Given the description of an element on the screen output the (x, y) to click on. 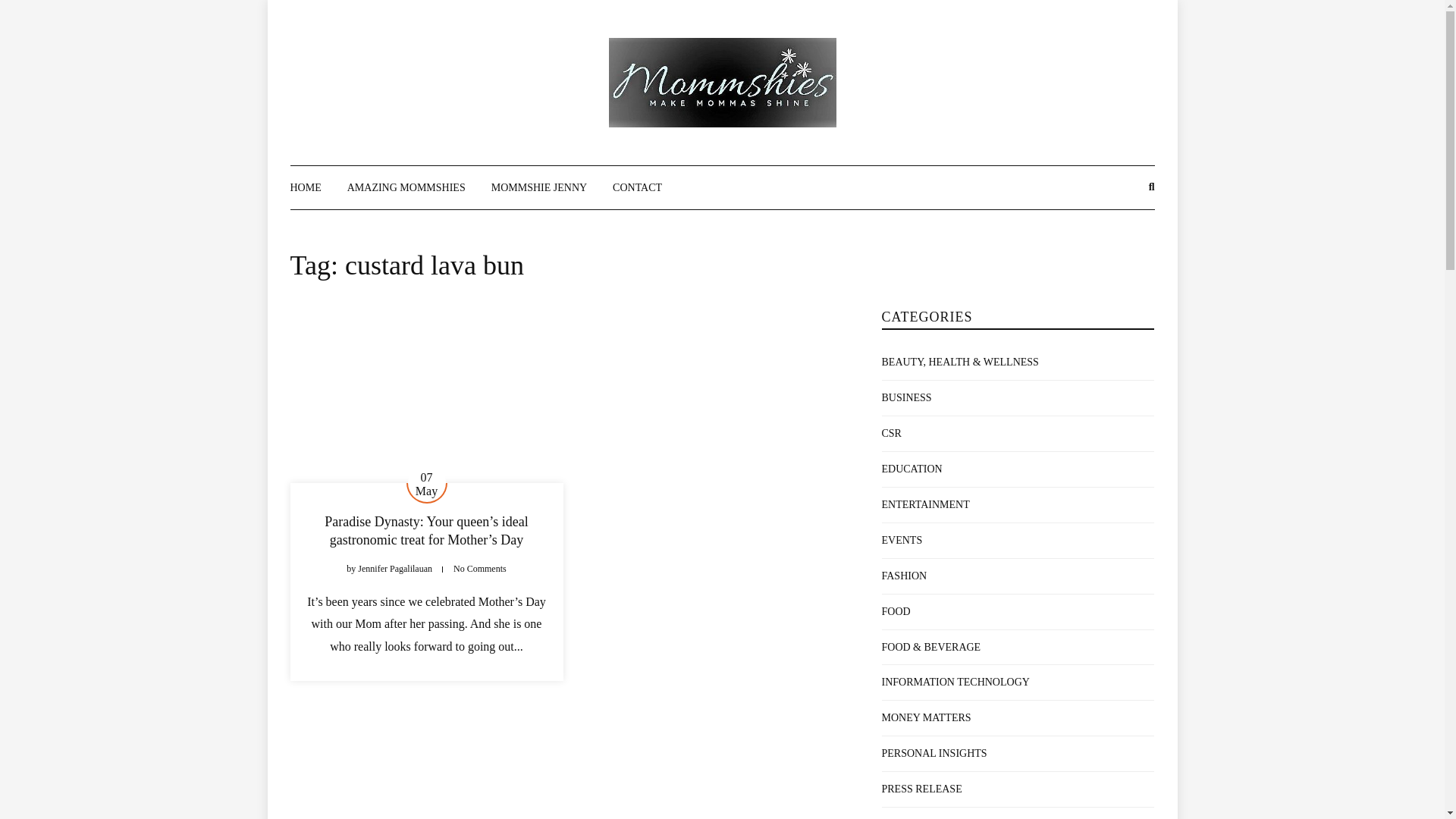
FASHION (903, 575)
ENTERTAINMENT (924, 504)
INFORMATION TECHNOLOGY (954, 681)
EDUCATION (911, 469)
CSR (890, 432)
BUSINESS (905, 397)
FOOD (895, 611)
AMAZING MOMMSHIES (406, 187)
MONEY MATTERS (925, 717)
MOMMSHIE JENNY (539, 187)
